Given the description of an element on the screen output the (x, y) to click on. 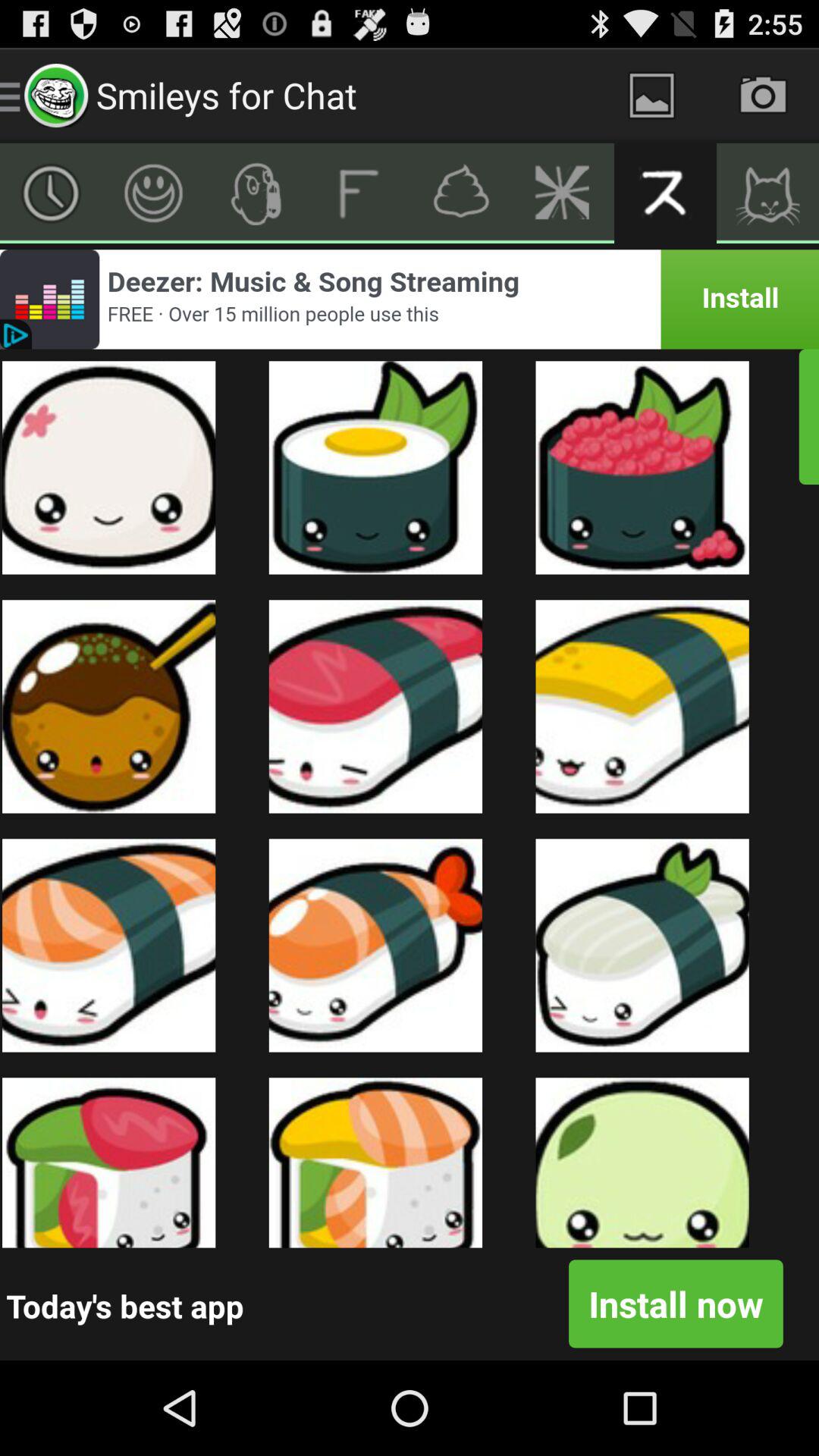
smile emoji (153, 193)
